Given the description of an element on the screen output the (x, y) to click on. 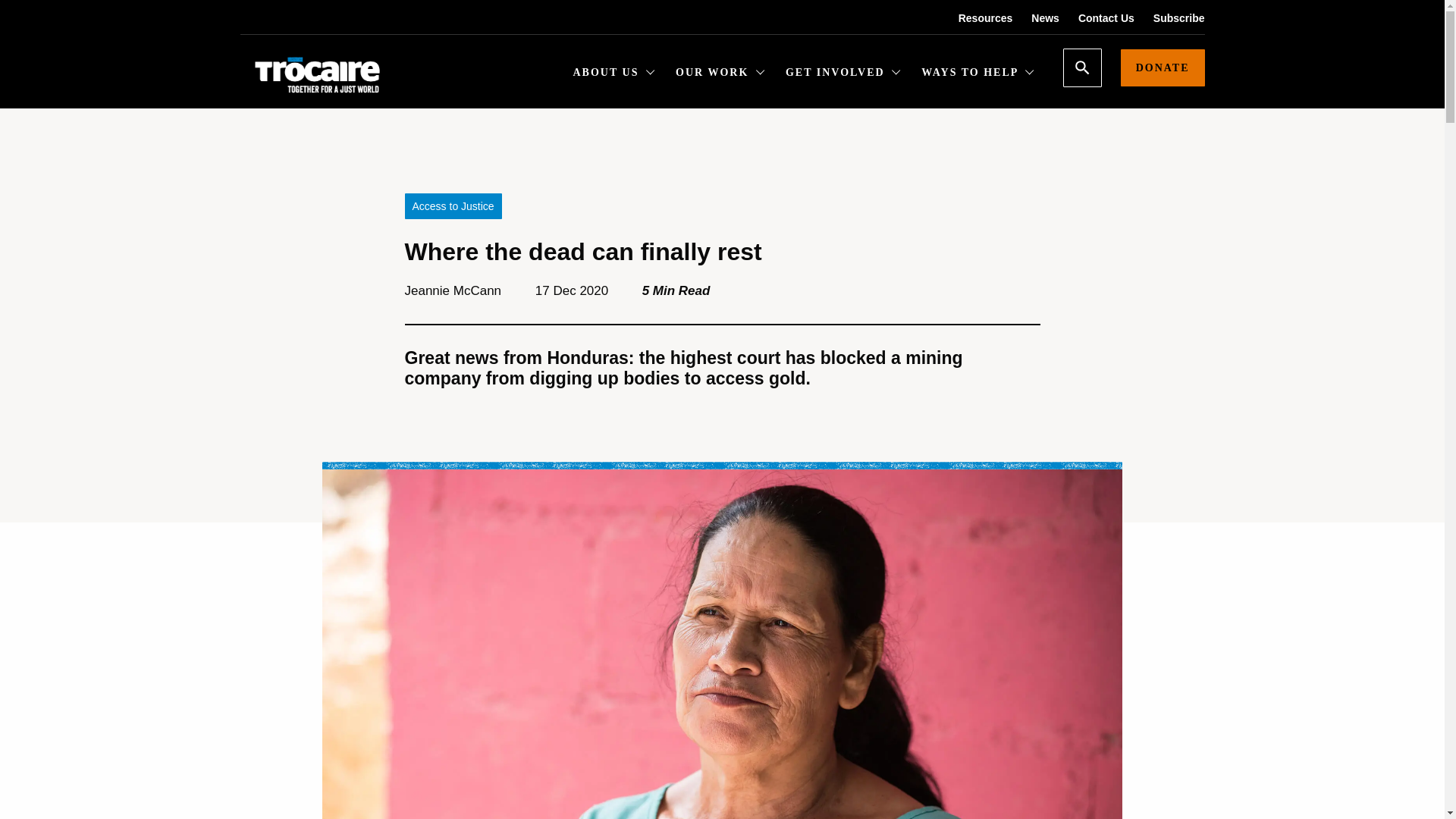
OUR WORK (720, 74)
Resources (976, 17)
DONATE (1163, 67)
WAYS TO HELP (977, 74)
Contact Us (1096, 17)
GET INVOLVED (843, 74)
Subscribe (1169, 17)
ABOUT US (614, 74)
News (1035, 17)
